Given the description of an element on the screen output the (x, y) to click on. 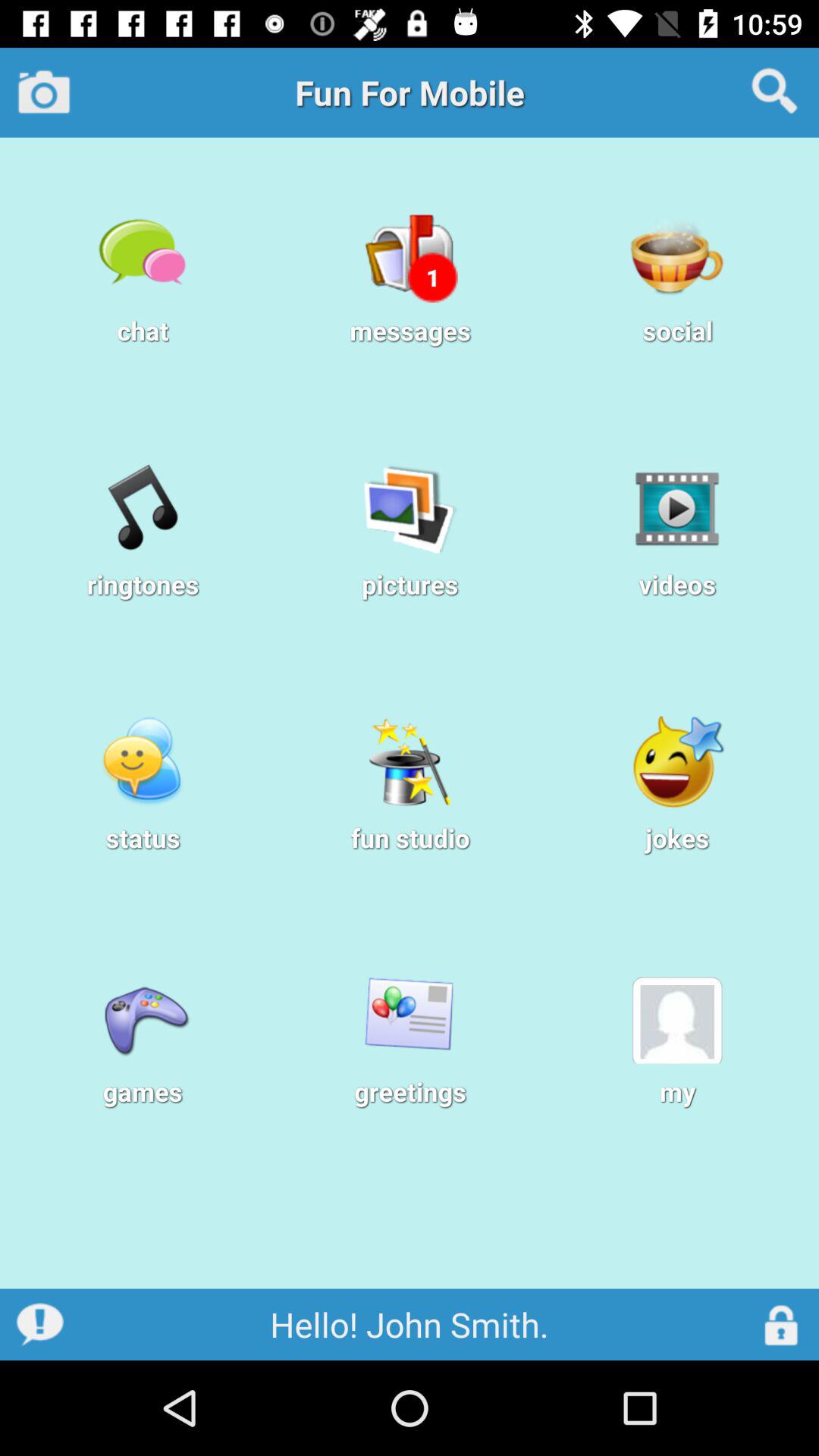
turn off item above the chat icon (43, 91)
